Given the description of an element on the screen output the (x, y) to click on. 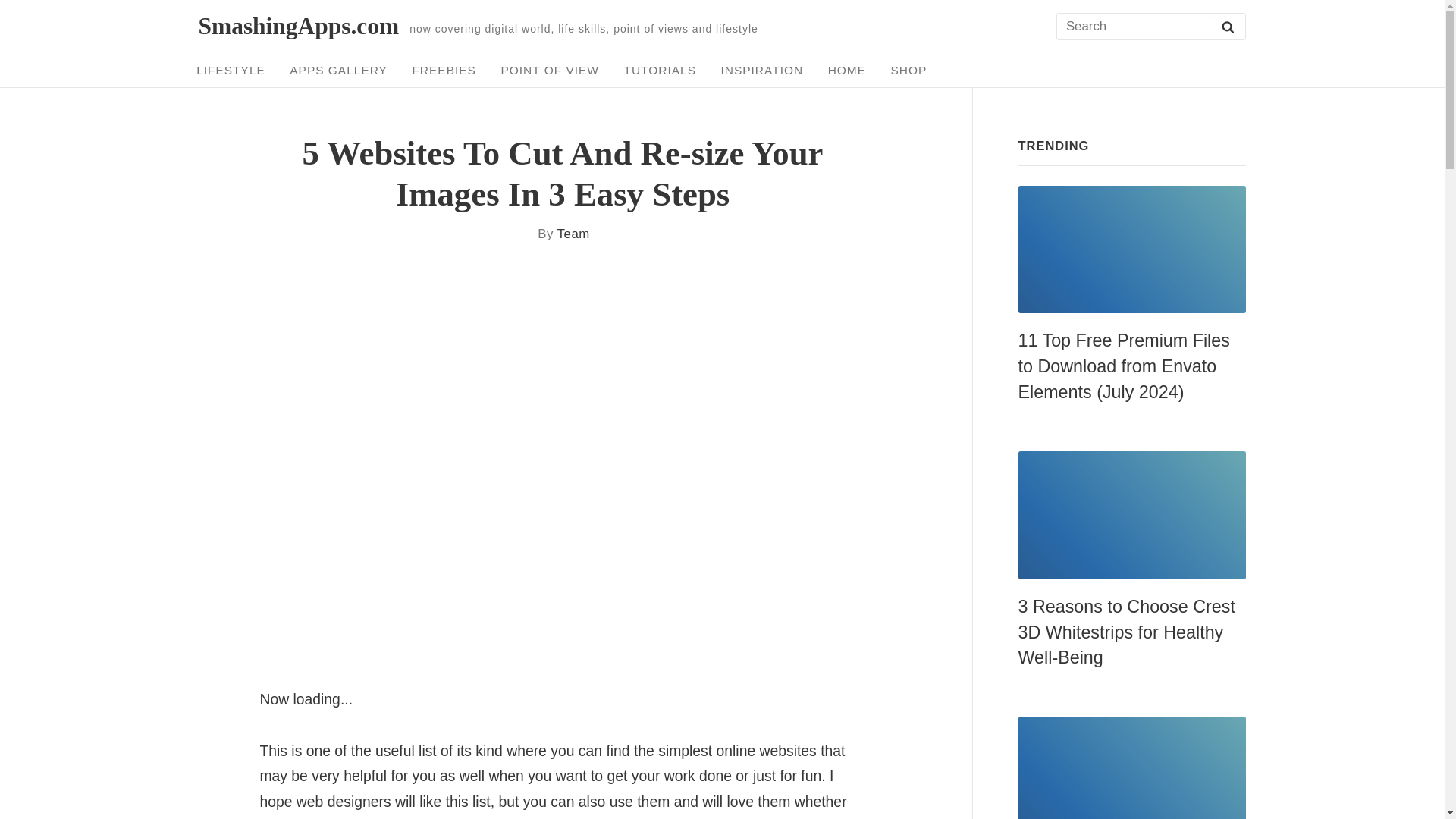
POINT OF VIEW (550, 69)
READ FULL POST (1130, 767)
SHOP (908, 69)
READ FULL POST (1130, 249)
FREEBIES (443, 69)
LIFESTYLE (231, 69)
APPS GALLERY (338, 69)
Team (573, 233)
HOME (846, 69)
INSPIRATION (761, 69)
Search for: (1149, 26)
SmashingApps.com (298, 25)
